Given the description of an element on the screen output the (x, y) to click on. 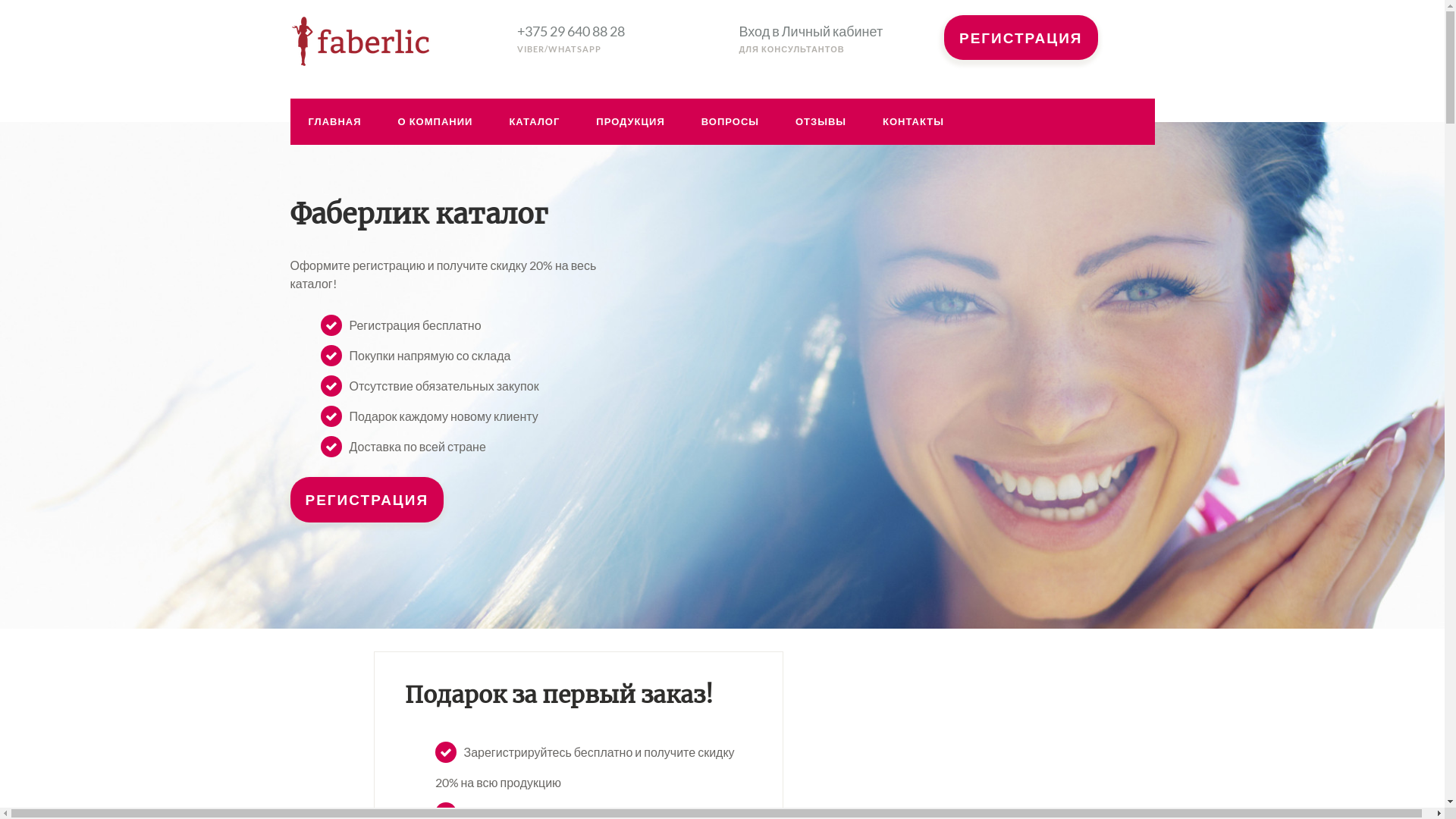
+375 29 640 88 28 Element type: text (570, 30)
